Given the description of an element on the screen output the (x, y) to click on. 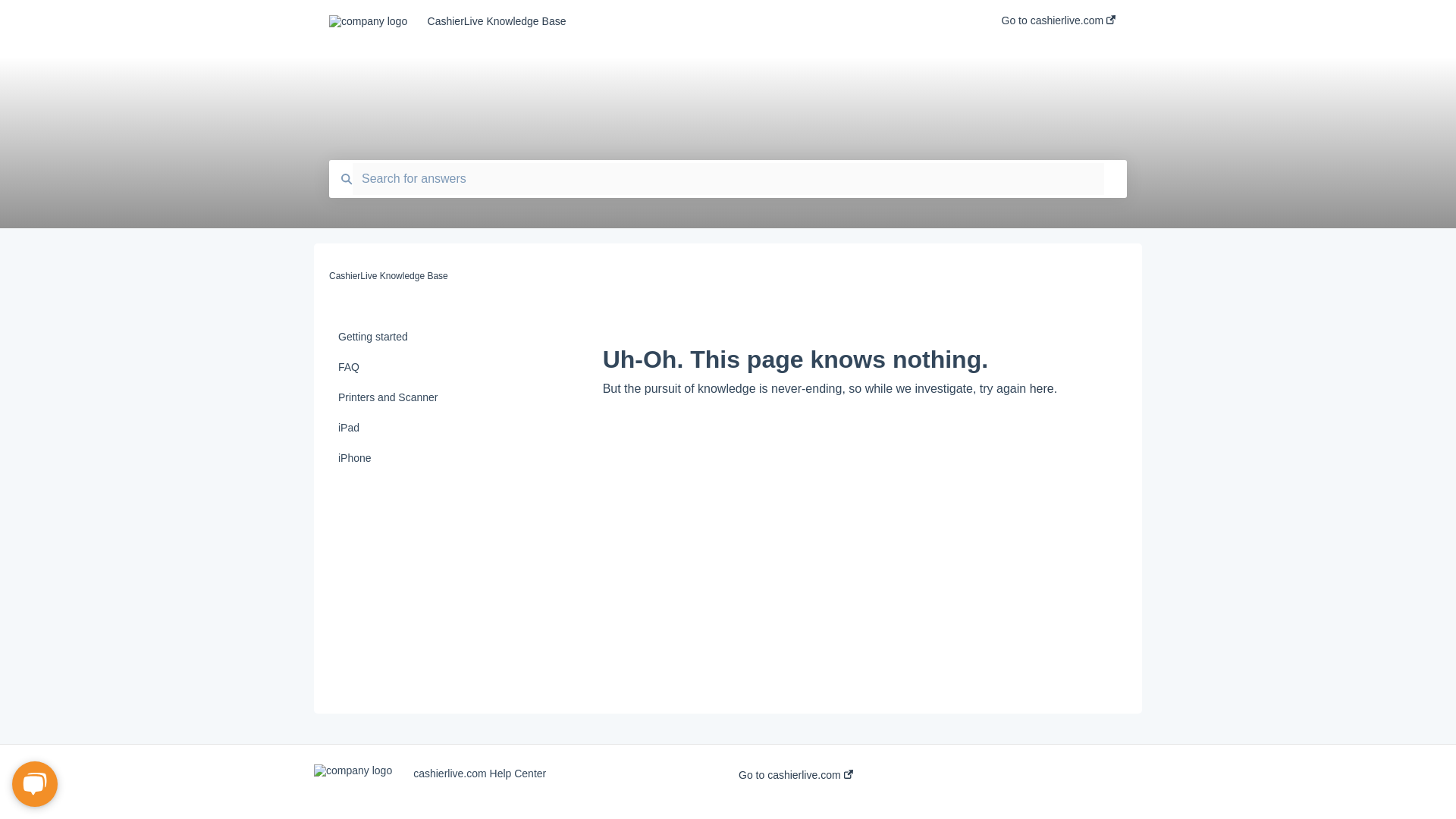
here. (1043, 388)
CashierLive Knowledge Base (388, 276)
iPad (420, 427)
Getting started (420, 336)
Go to cashierlive.com (1058, 25)
Go to cashierlive.com (795, 775)
Printers and Scanner (420, 397)
CashierLive Knowledge Base (692, 21)
iPhone (420, 458)
FAQ (420, 367)
